Given the description of an element on the screen output the (x, y) to click on. 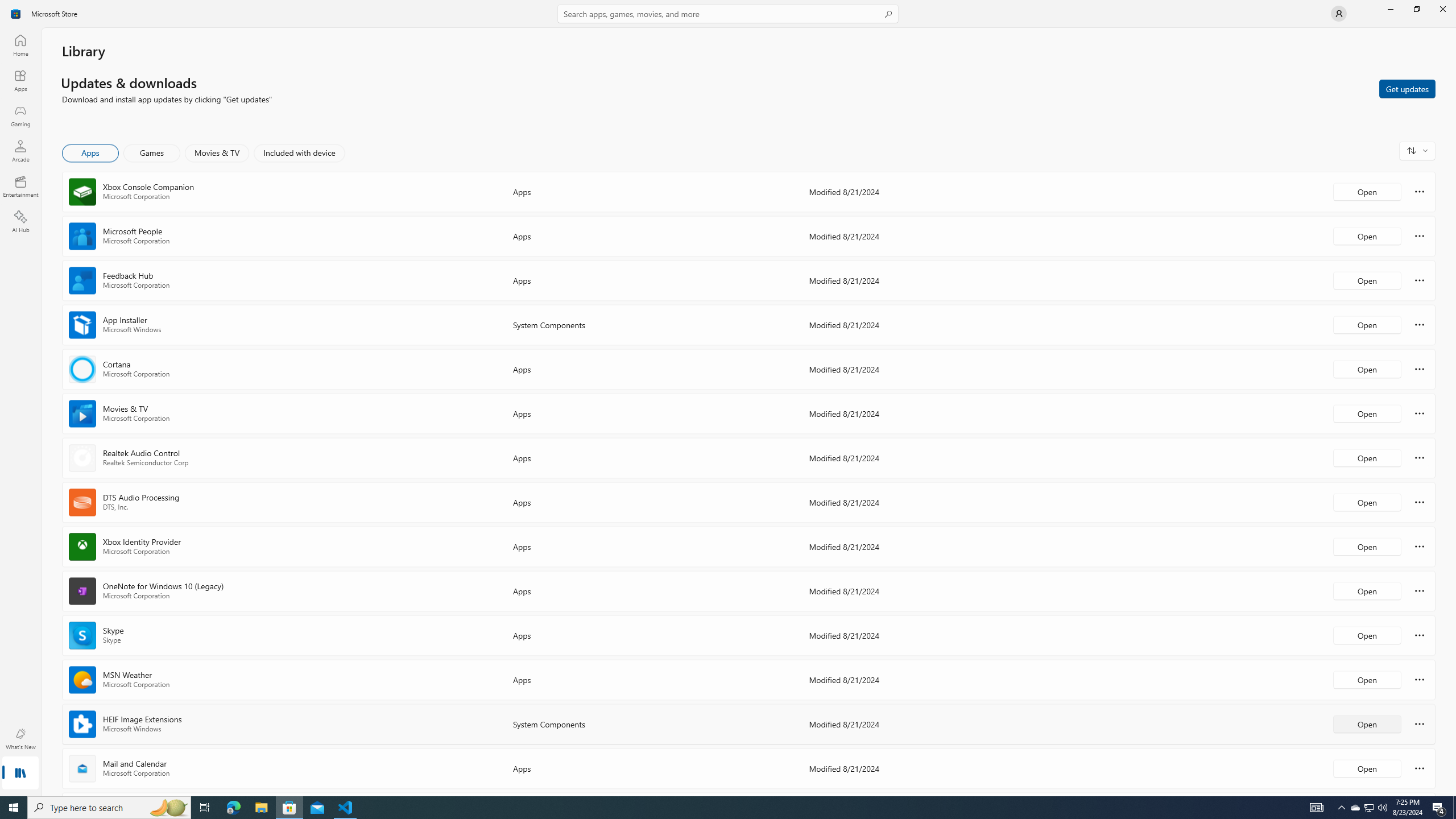
More options (1419, 768)
Class: Image (15, 13)
Search (727, 13)
Get updates (1406, 88)
Entertainment (20, 185)
Gaming (20, 115)
Library (20, 773)
AutomationID: NavigationControl (728, 398)
Sort and filter (1417, 149)
Included with device (299, 153)
Open (1366, 768)
Restore Microsoft Store (1416, 9)
Games (151, 153)
AI Hub (20, 221)
Arcade (20, 150)
